Given the description of an element on the screen output the (x, y) to click on. 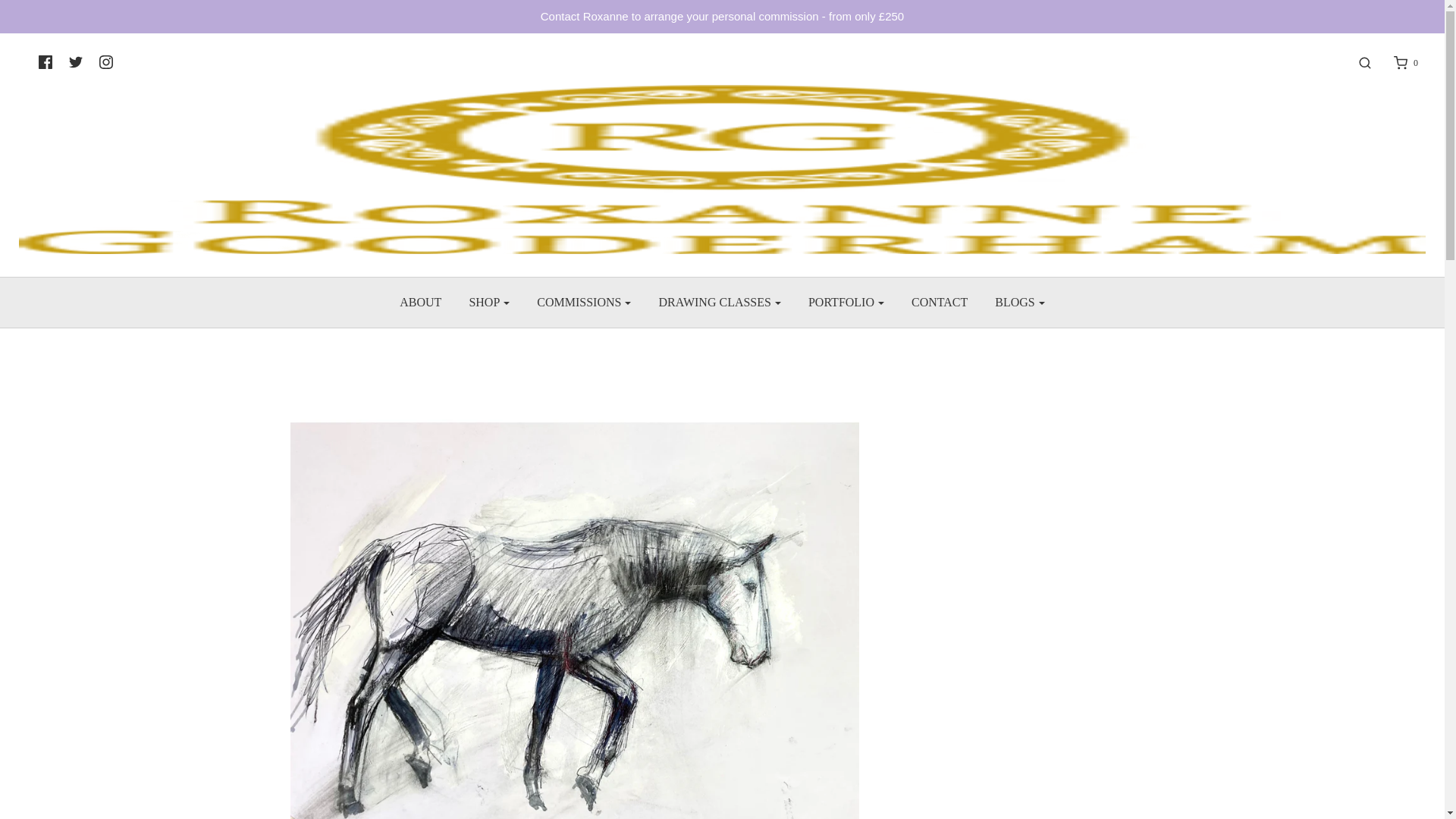
PORTFOLIO (845, 302)
Facebook icon (44, 61)
ABOUT (420, 302)
Twitter icon (75, 61)
SHOP (489, 302)
Twitter icon (75, 62)
Search (1357, 62)
CONTACT (938, 302)
Facebook icon (44, 62)
BLOGS (1019, 302)
